Given the description of an element on the screen output the (x, y) to click on. 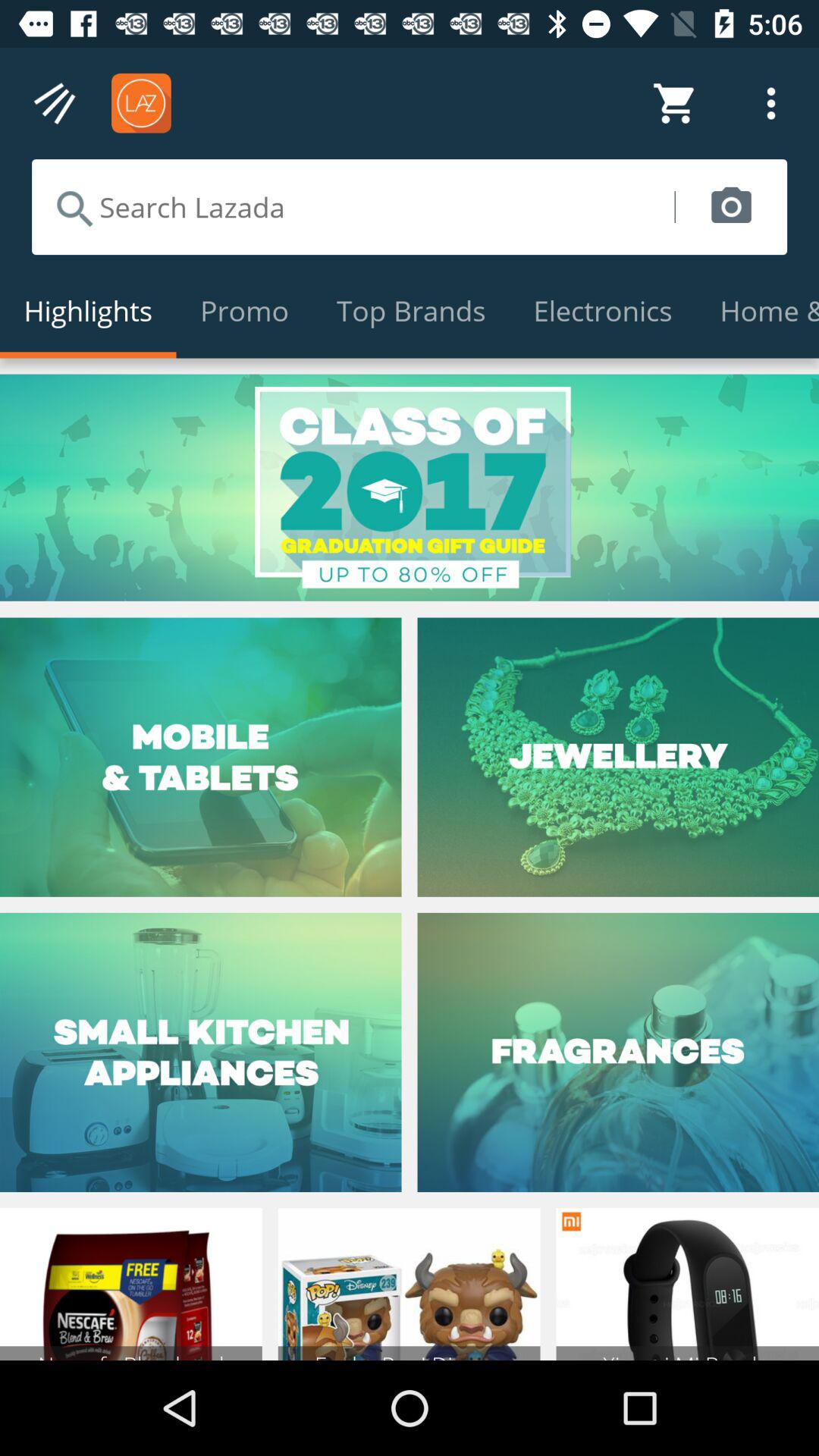
tap to explore menu (55, 103)
